Given the description of an element on the screen output the (x, y) to click on. 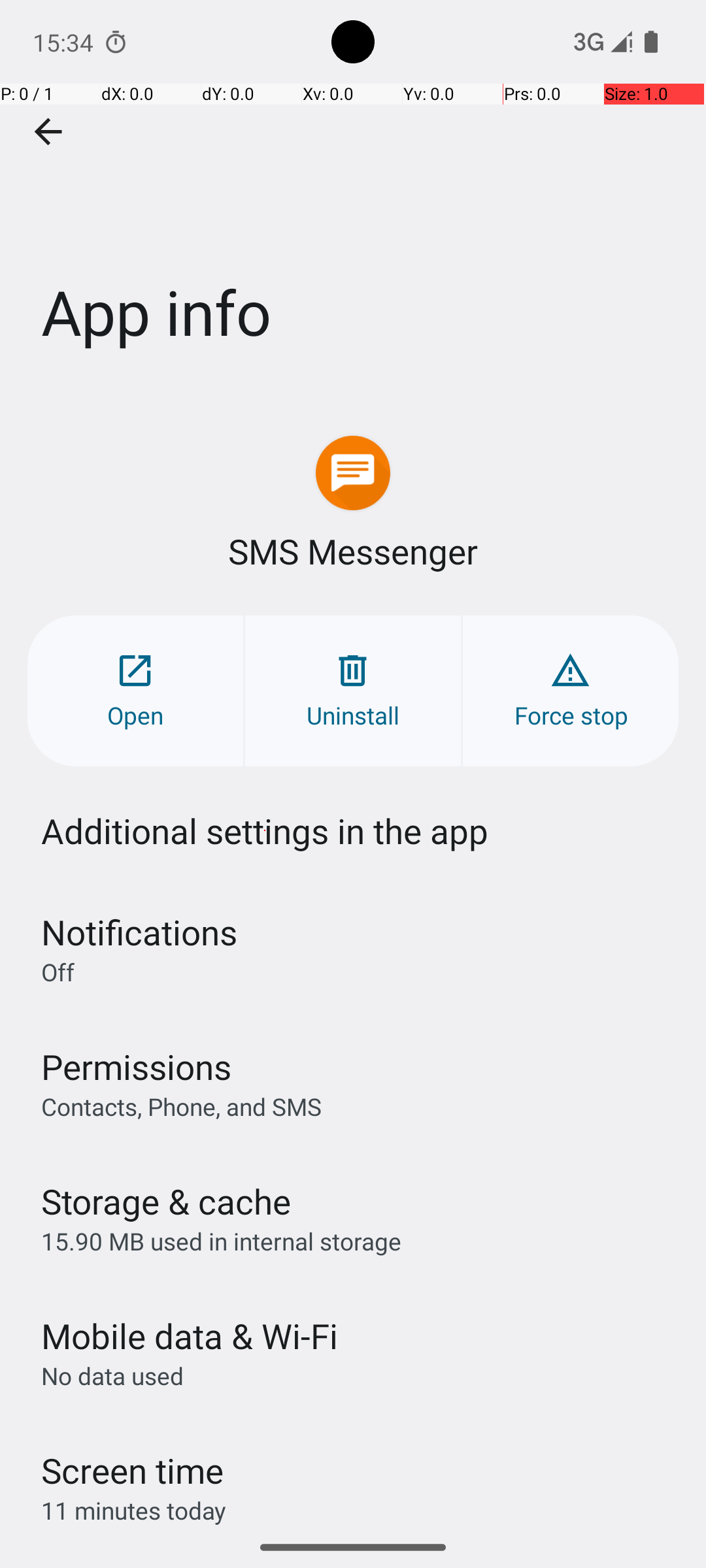
Contacts, Phone, and SMS Element type: android.widget.TextView (181, 1106)
15.90 MB used in internal storage Element type: android.widget.TextView (221, 1240)
11 minutes today Element type: android.widget.TextView (133, 1509)
